Given the description of an element on the screen output the (x, y) to click on. 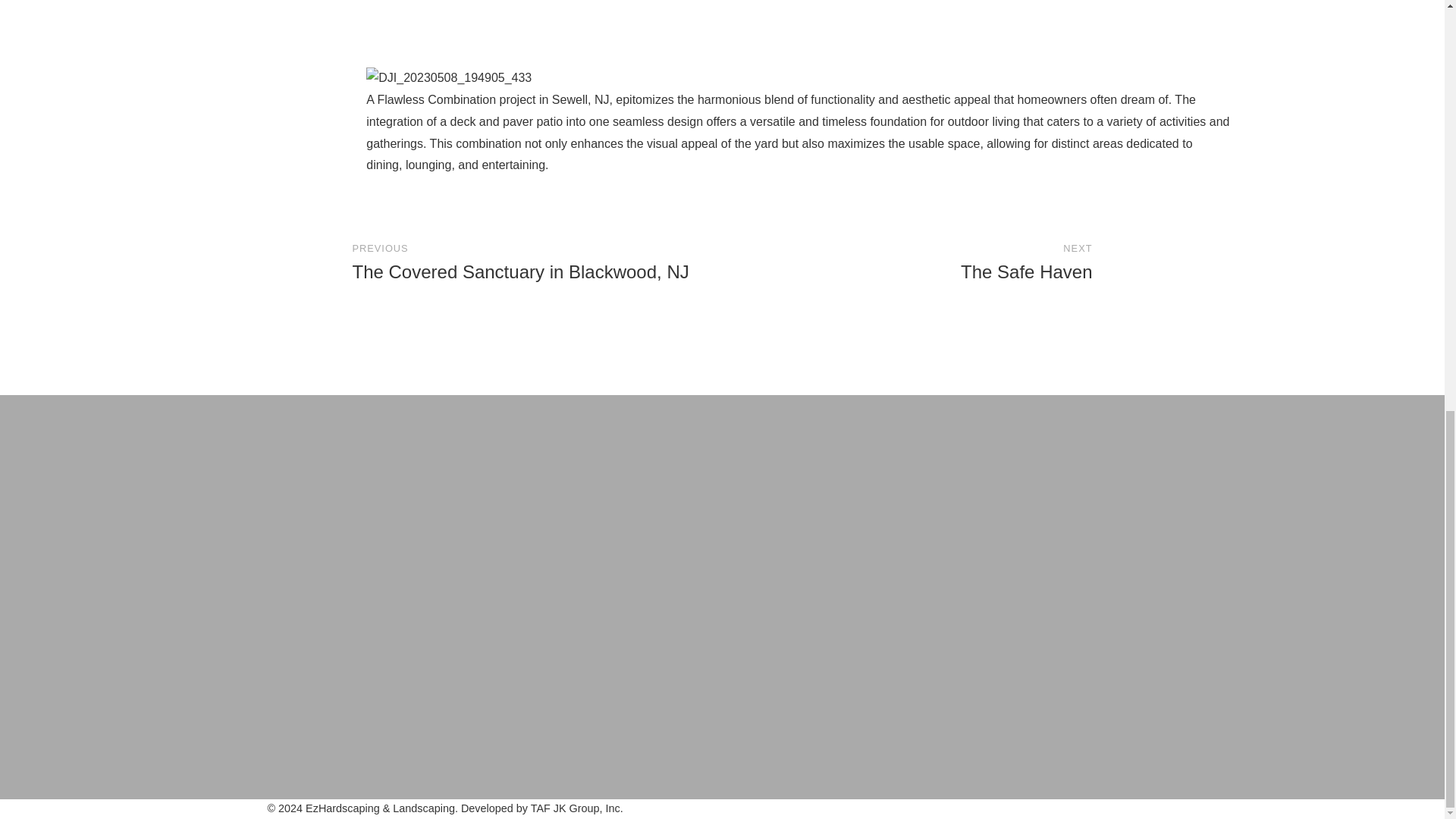
TAF JK Group, Inc. (949, 261)
